Given the description of an element on the screen output the (x, y) to click on. 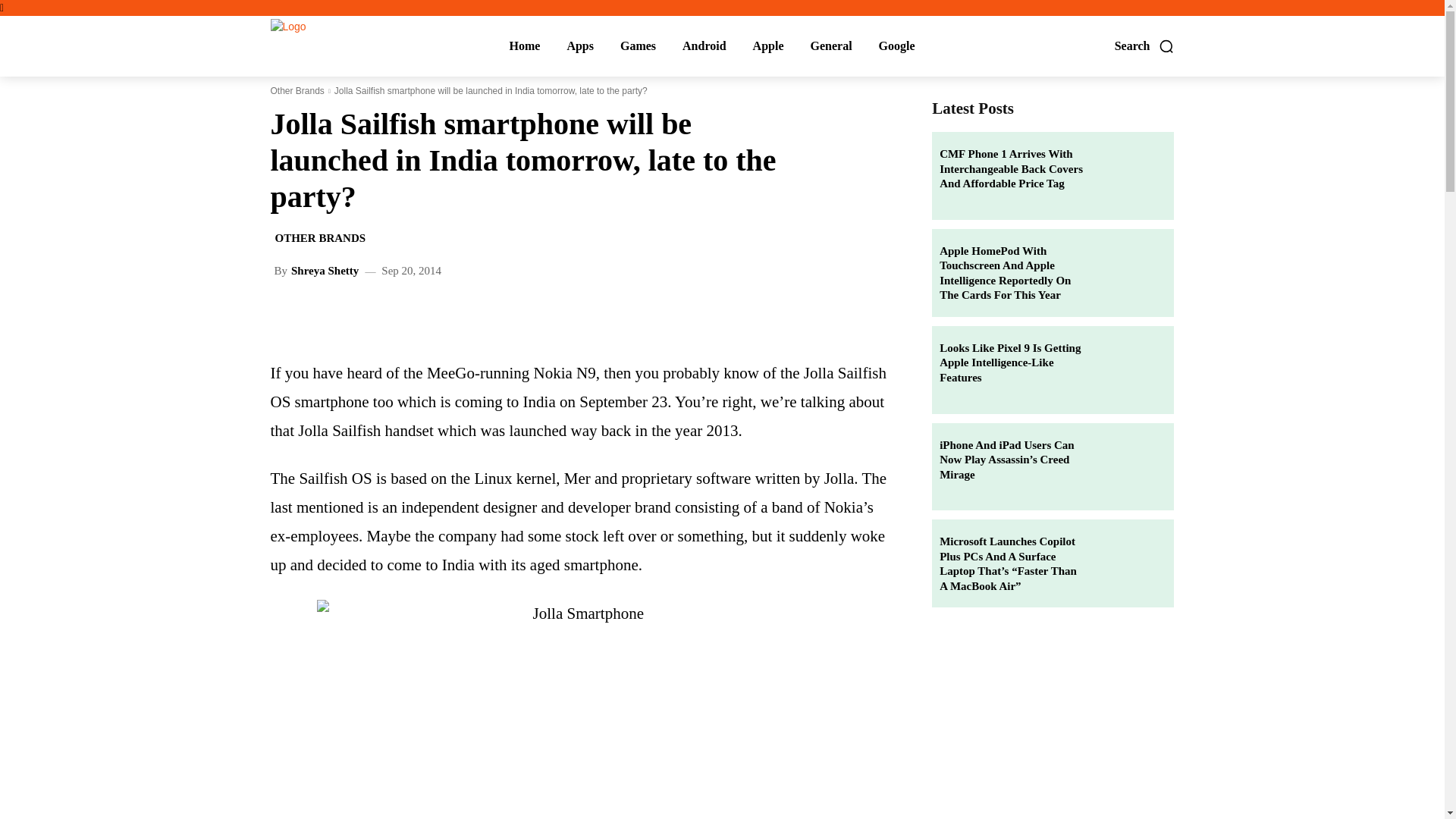
OTHER BRANDS (319, 238)
Shreya Shetty (324, 270)
Other Brands (296, 90)
View all posts in Other Brands (296, 90)
Search (1144, 45)
